Given the description of an element on the screen output the (x, y) to click on. 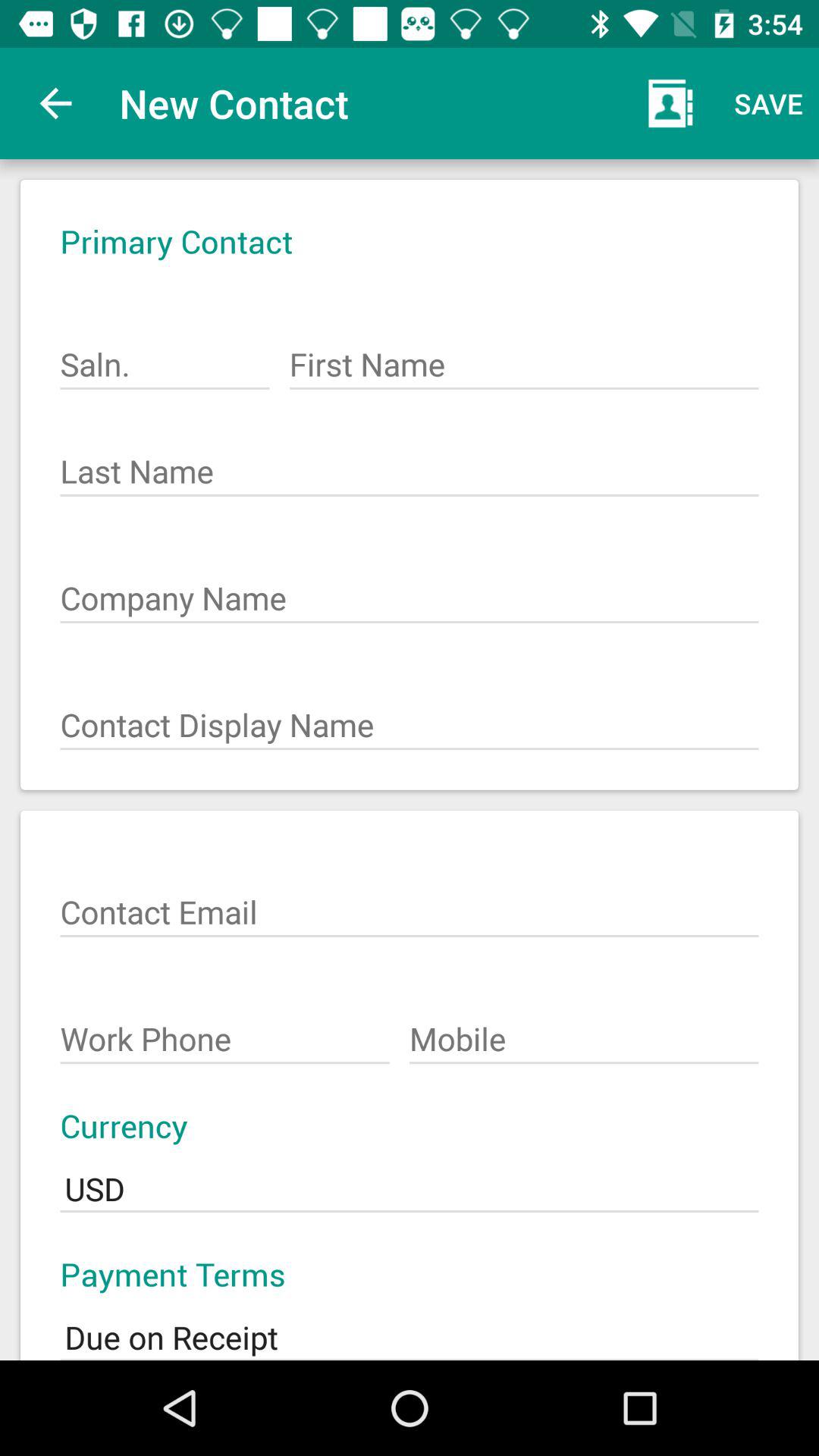
turn off the item next to the new contact icon (55, 103)
